Given the description of an element on the screen output the (x, y) to click on. 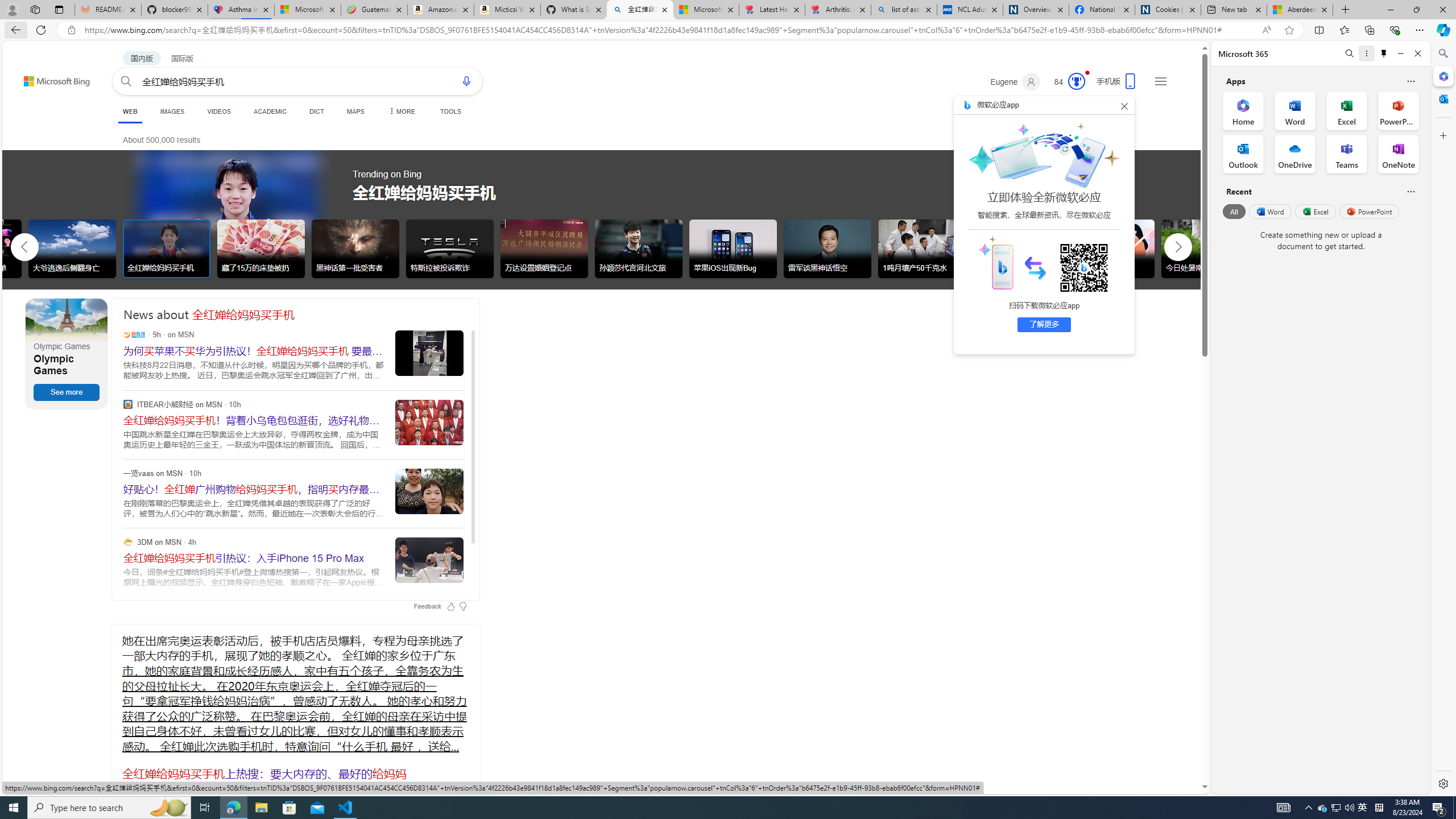
Click to scroll right (1177, 246)
PowerPoint Office App (1398, 110)
MORE (400, 111)
Teams Office App (1346, 154)
Feedback Dislike (462, 605)
Skip to content (35, 76)
VIDEOS (218, 111)
